Given the description of an element on the screen output the (x, y) to click on. 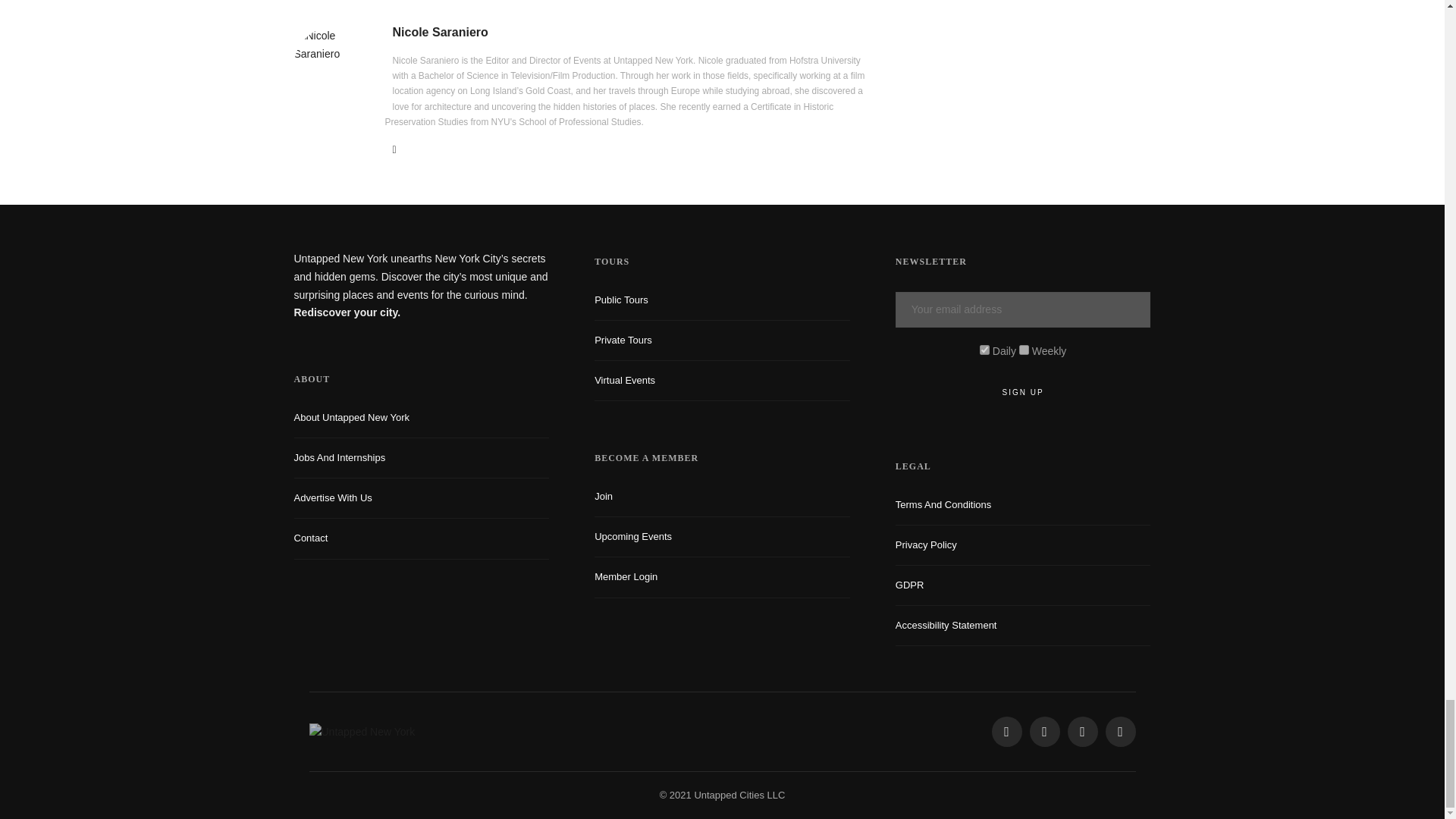
e99a09560c (984, 349)
7cff6a70fd (1024, 349)
Sign up (1023, 392)
